Given the description of an element on the screen output the (x, y) to click on. 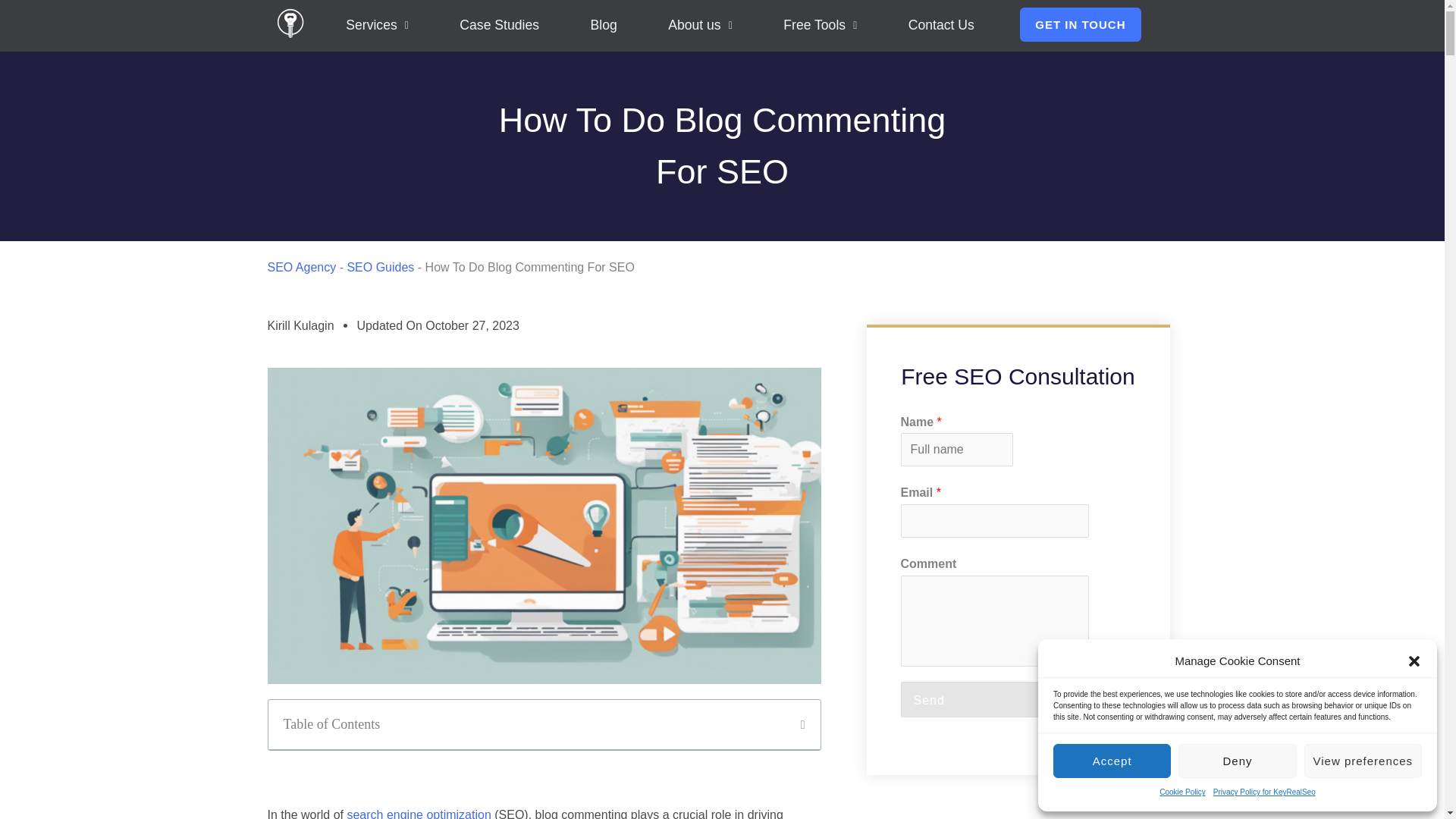
Case Studies (498, 25)
Privacy Policy for KeyRealSeo (1264, 792)
Cookie Policy (1181, 792)
View preferences (1363, 760)
GET IN TOUCH (1080, 24)
Contact Us (941, 25)
About us (699, 25)
Blog (603, 25)
Services (376, 25)
Accept (1111, 760)
Free Tools (820, 25)
Deny (1236, 760)
